Given the description of an element on the screen output the (x, y) to click on. 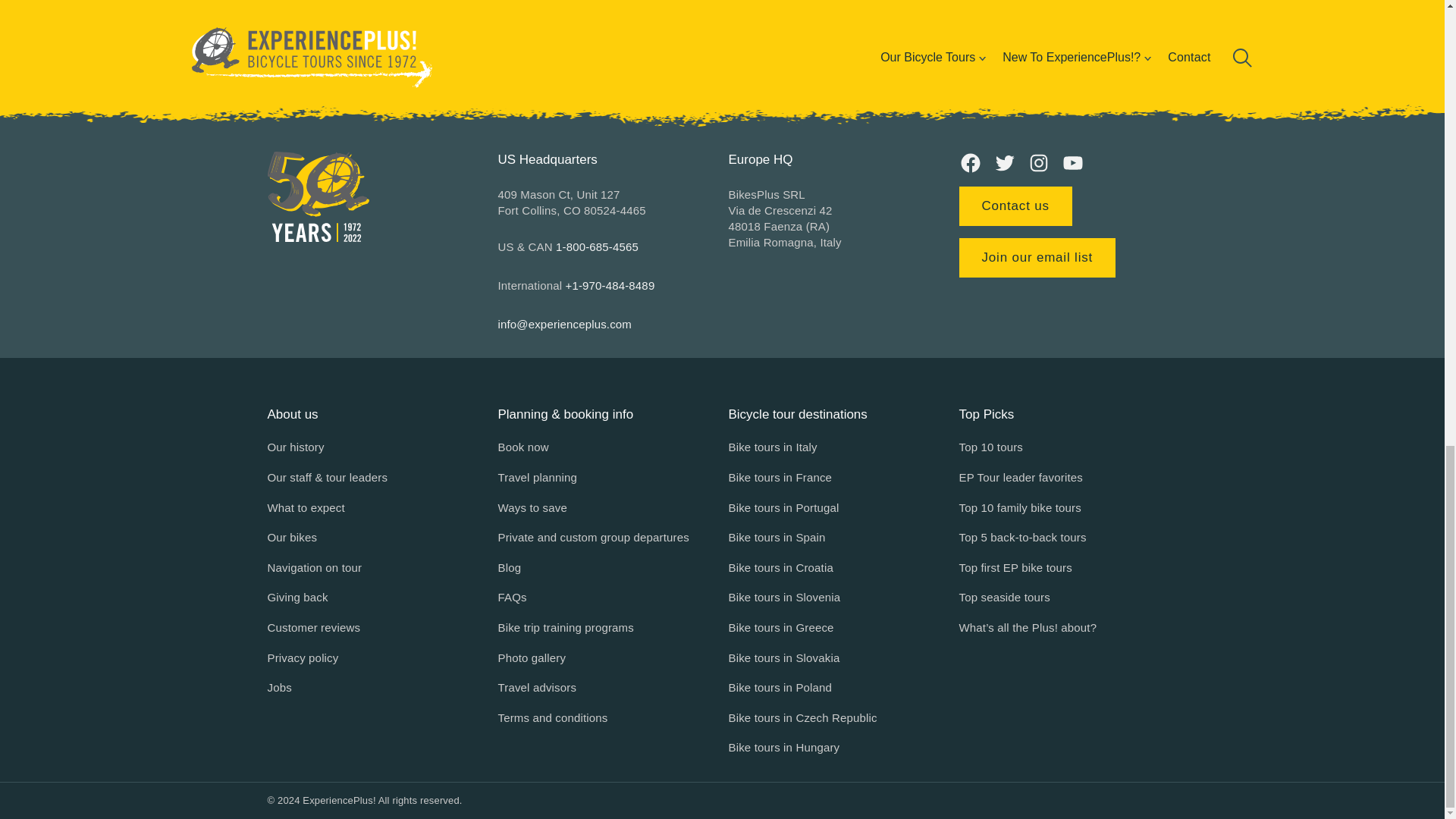
Jobs (278, 687)
1-800-685-4565 (597, 246)
Our bikes (291, 537)
Specs (721, 18)
Twitter (1004, 162)
What to expect (304, 507)
Giving back (296, 597)
Facebook (969, 162)
Customer reviews (312, 628)
Join our email list (1036, 257)
